Given the description of an element on the screen output the (x, y) to click on. 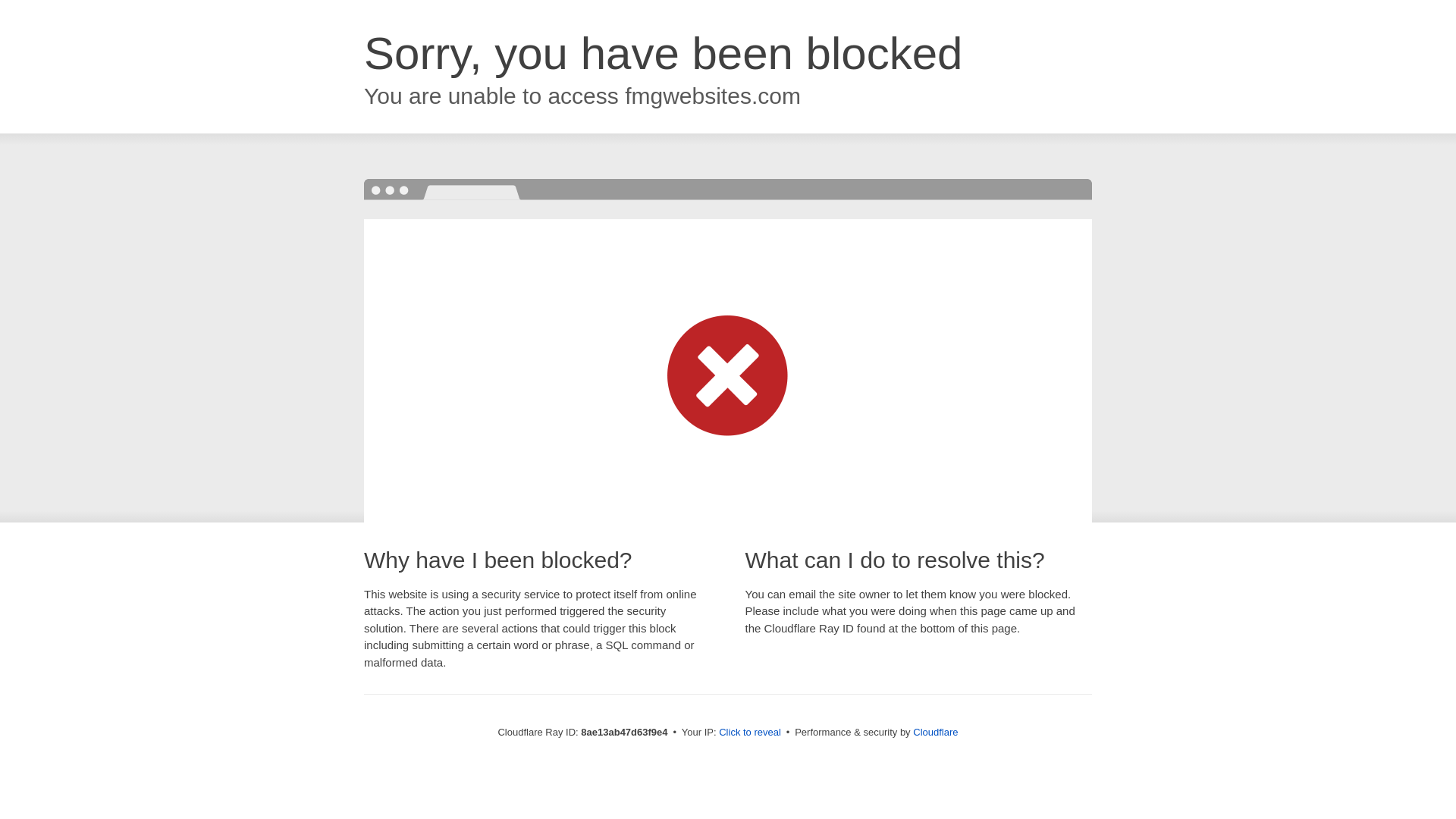
Cloudflare (935, 731)
Click to reveal (749, 732)
